Given the description of an element on the screen output the (x, y) to click on. 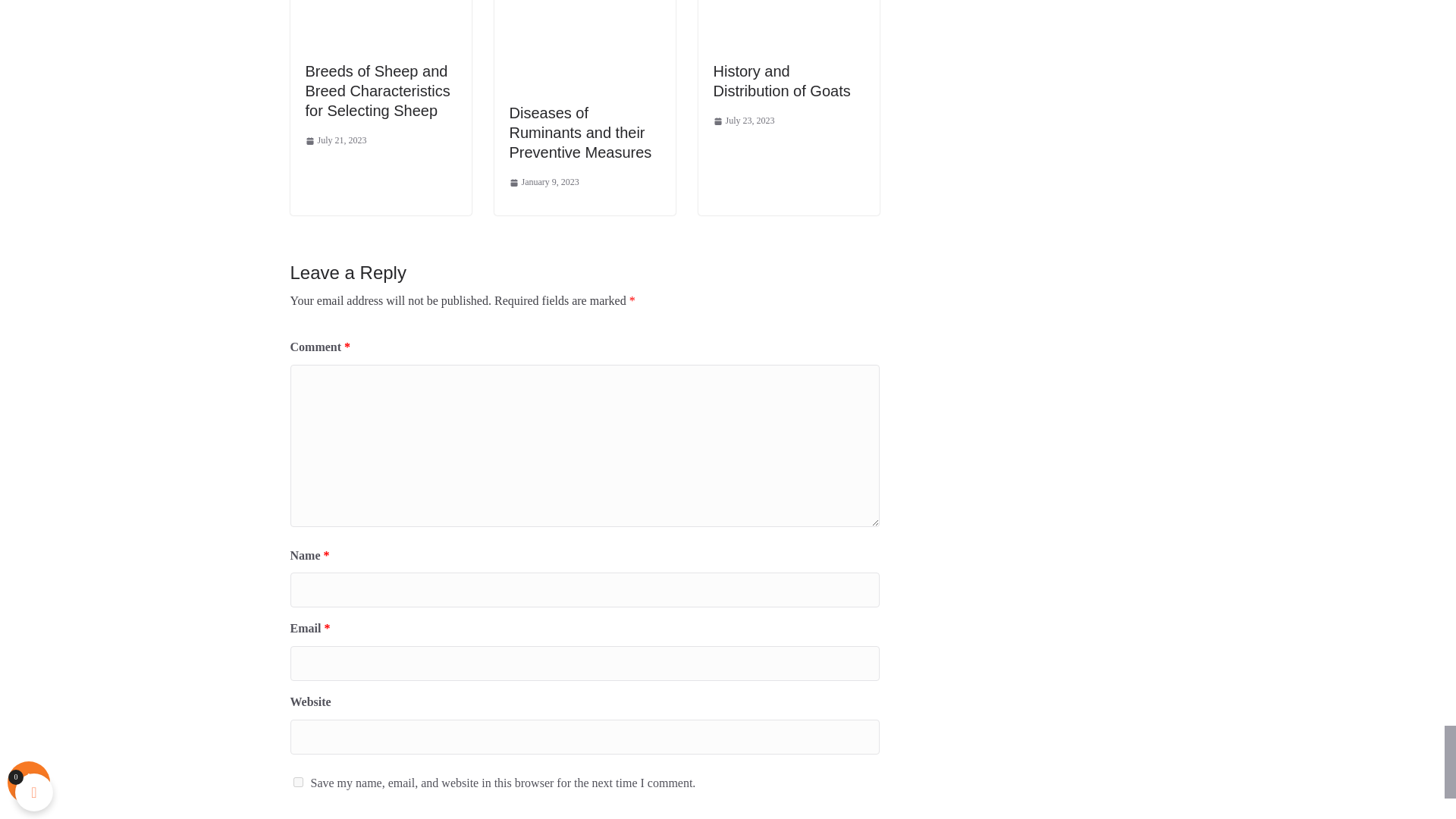
yes (297, 782)
